Given the description of an element on the screen output the (x, y) to click on. 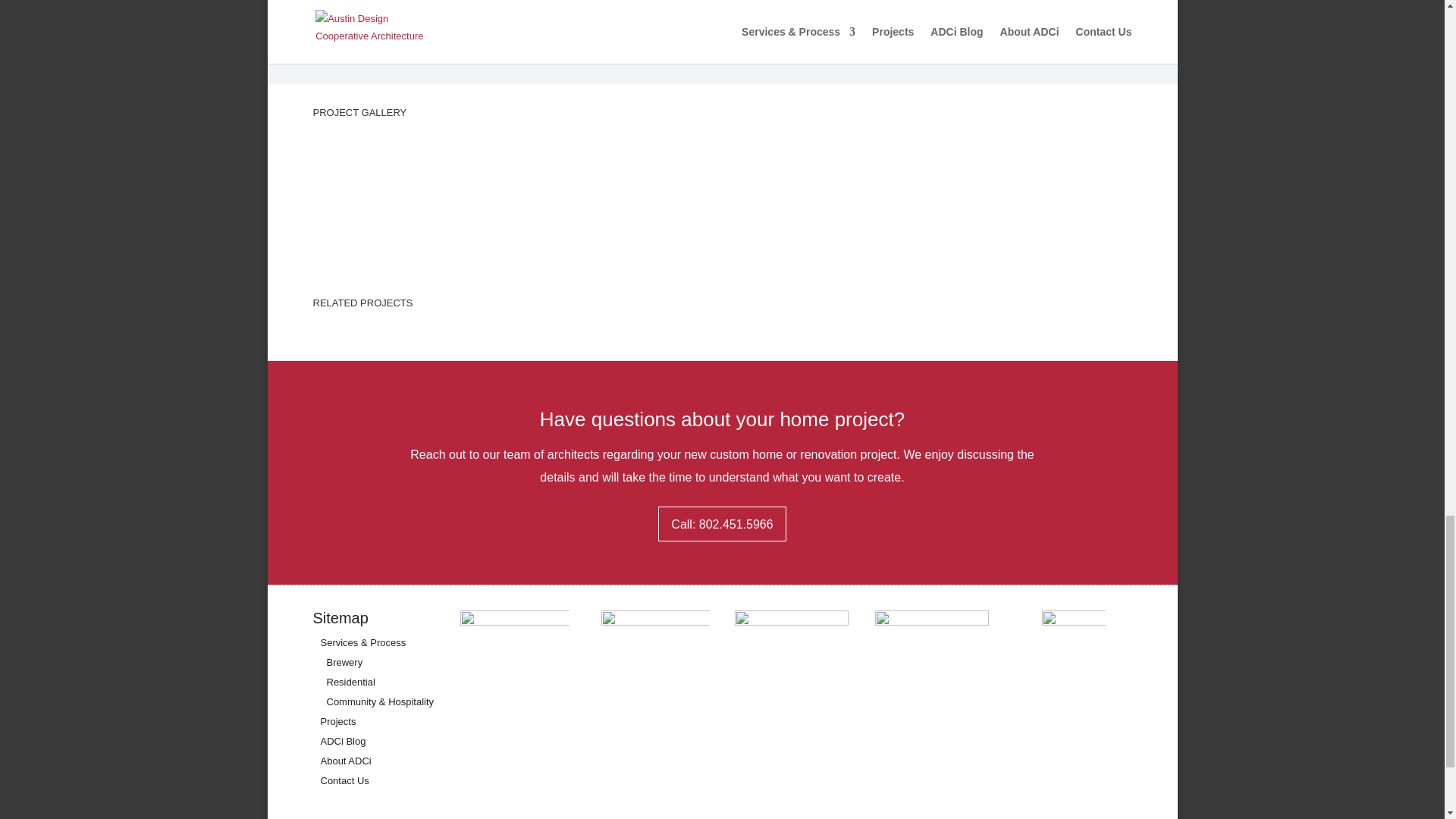
NESEA-logo (655, 666)
Call: 802.451.5966 (722, 523)
fccc-mass (791, 669)
vbsrlogo-proudmember (931, 669)
aia-logo-trans (514, 665)
